Given the description of an element on the screen output the (x, y) to click on. 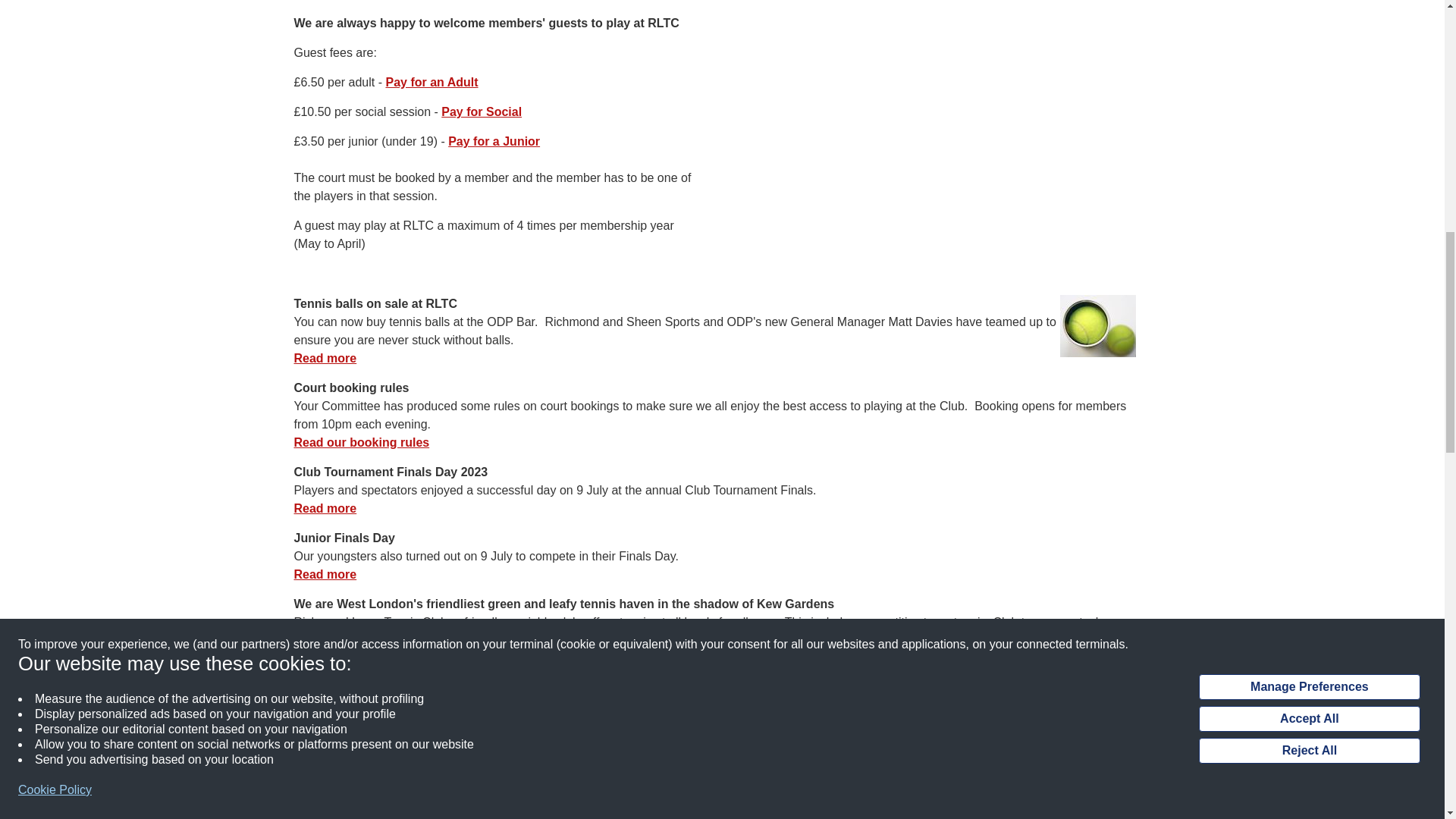
Pay for an Adult (431, 82)
Pay for a Junior (494, 141)
Read more (325, 508)
Read more (325, 574)
Read more (325, 358)
Read our booking rules (361, 441)
Pay for Social (481, 111)
